Given the description of an element on the screen output the (x, y) to click on. 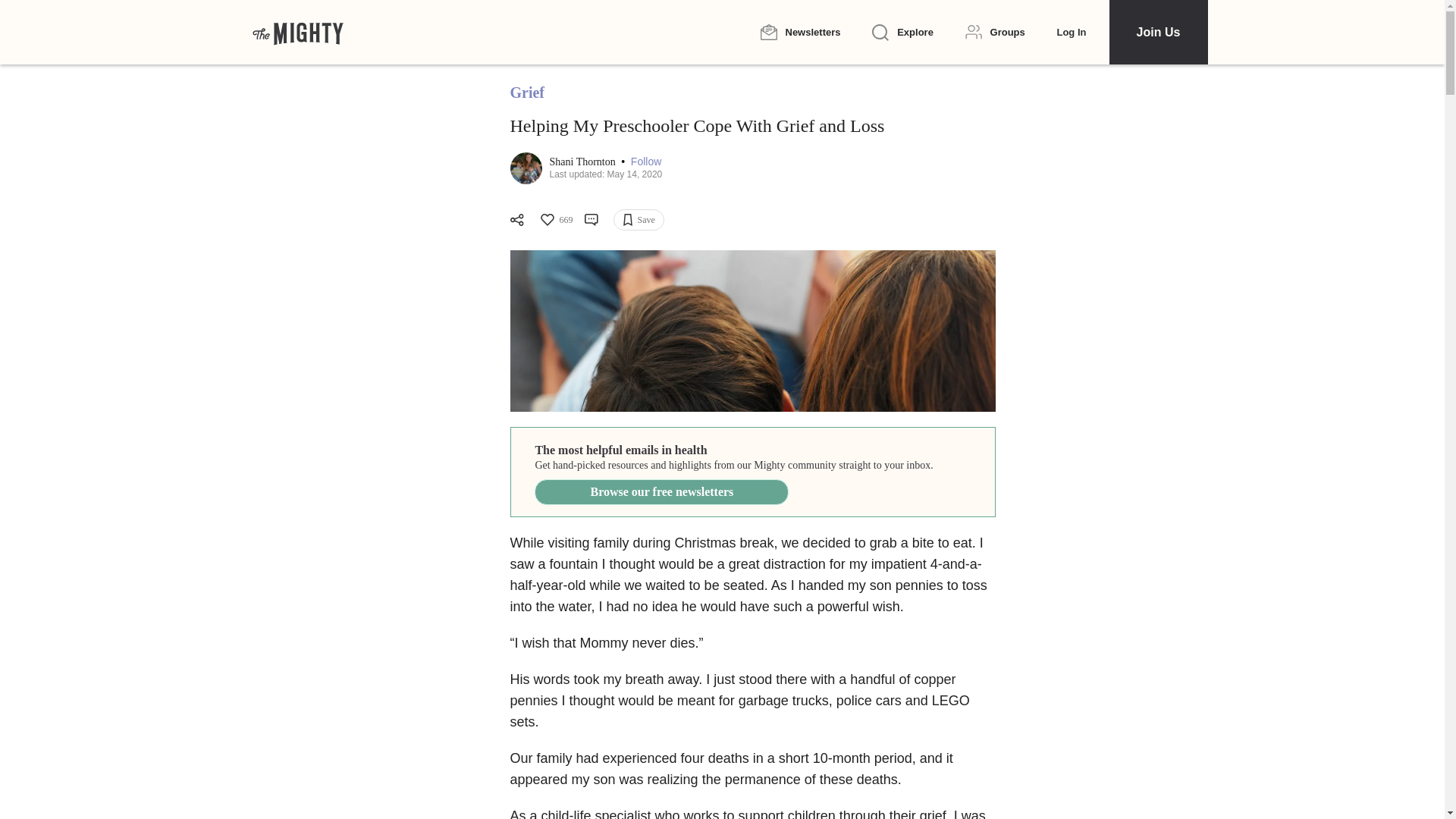
Join Us (1157, 32)
Helping My Preschooler Cope With Grief and Loss (751, 330)
Shani Thornton (582, 161)
Newsletters (800, 31)
Groups (995, 32)
Follow (645, 161)
Explore (902, 32)
Browse our free newsletters (661, 492)
Grief (526, 92)
Save (637, 219)
